Given the description of an element on the screen output the (x, y) to click on. 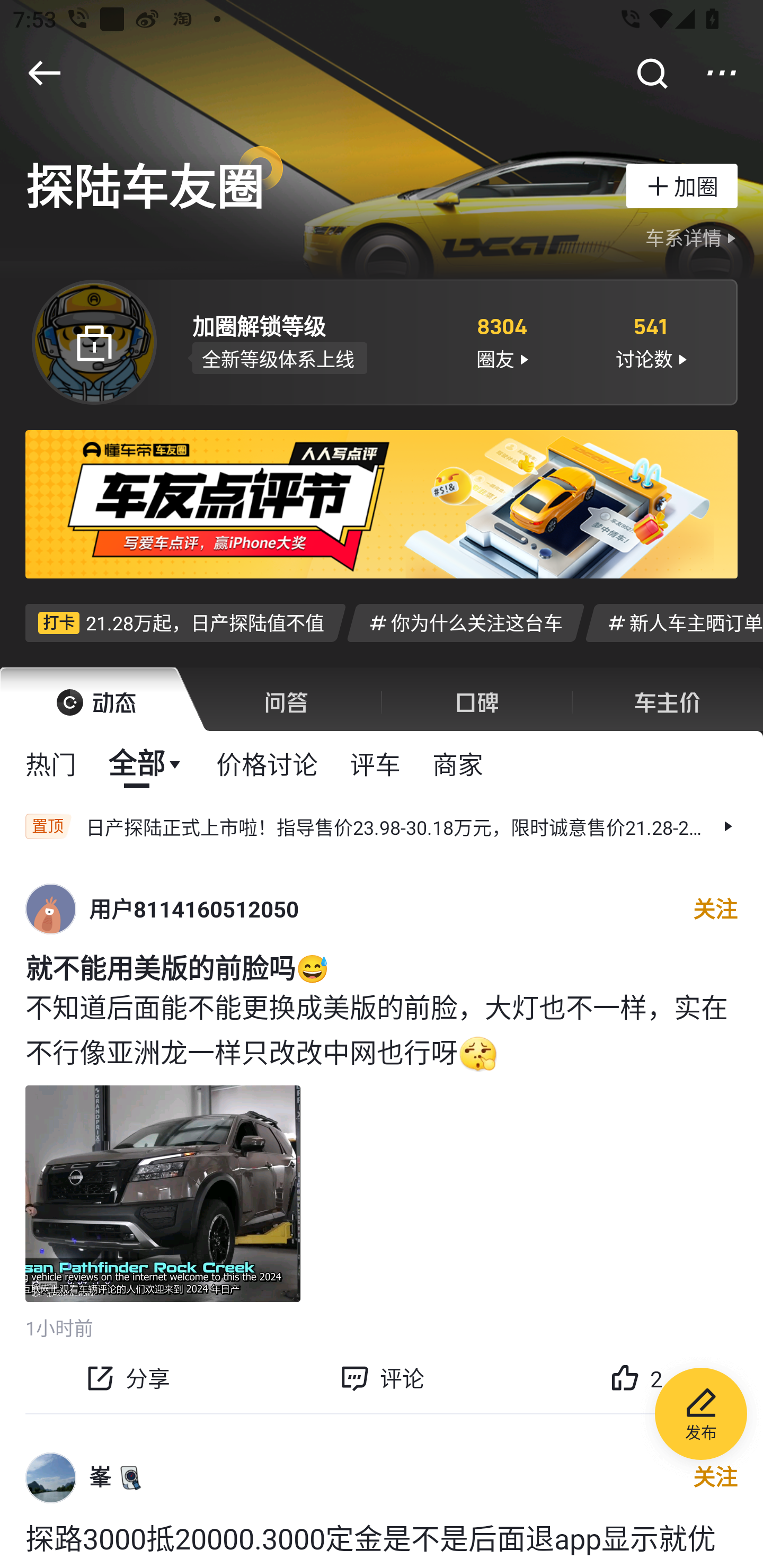
 (44, 72)
 (651, 72)
 (721, 72)
车系详情 (692, 238)
加圈解锁等级 全新等级体系上线 (307, 341)
8304 圈友 (501, 341)
541 讨论数 (650, 341)
打卡 21.28万起，日产探陆值不值 (185, 622)
 你为什么关注这台车 (465, 622)
 新人车主晒订单 (674, 622)
热门 (50, 762)
全部  (146, 762)
价格讨论 (266, 762)
评车 (374, 762)
商家 (457, 762)
关注 (714, 909)
用户8114160512050 (194, 909)
不知道后面能不能更换成美版的前脸，大灯也不一样，实在不行像亚洲龙一样只改改中网也行呀[抠鼻] (381, 1029)
 分享 (127, 1377)
 评论 (381, 1377)
2 (635, 1377)
 发布 (701, 1416)
关注 (714, 1477)
峯 (100, 1477)
探路3000抵20000.3000定金是不是后面退app显示就优惠17000 (381, 1542)
